Given the description of an element on the screen output the (x, y) to click on. 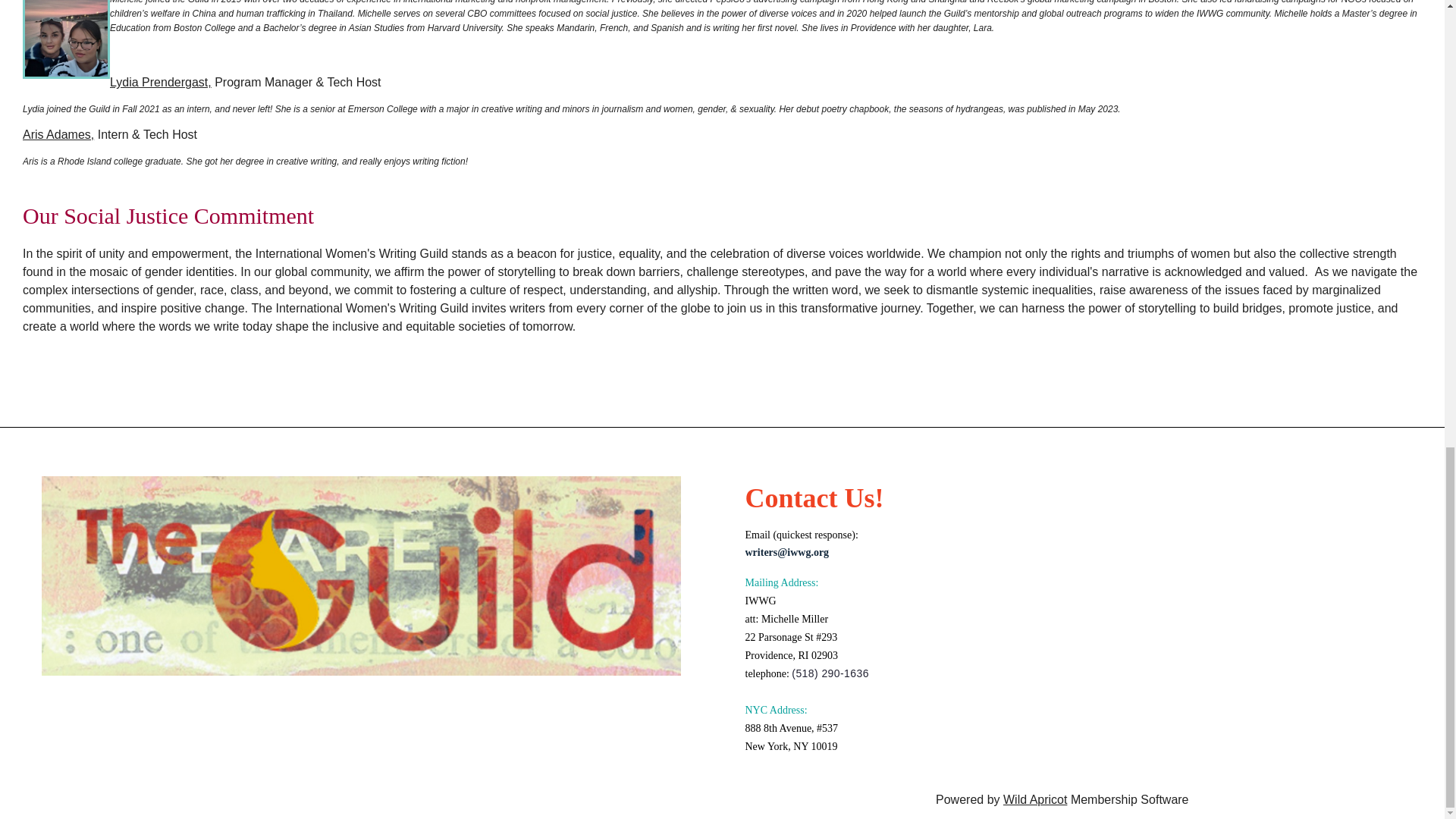
Lydia Prendergast, (160, 82)
